Given the description of an element on the screen output the (x, y) to click on. 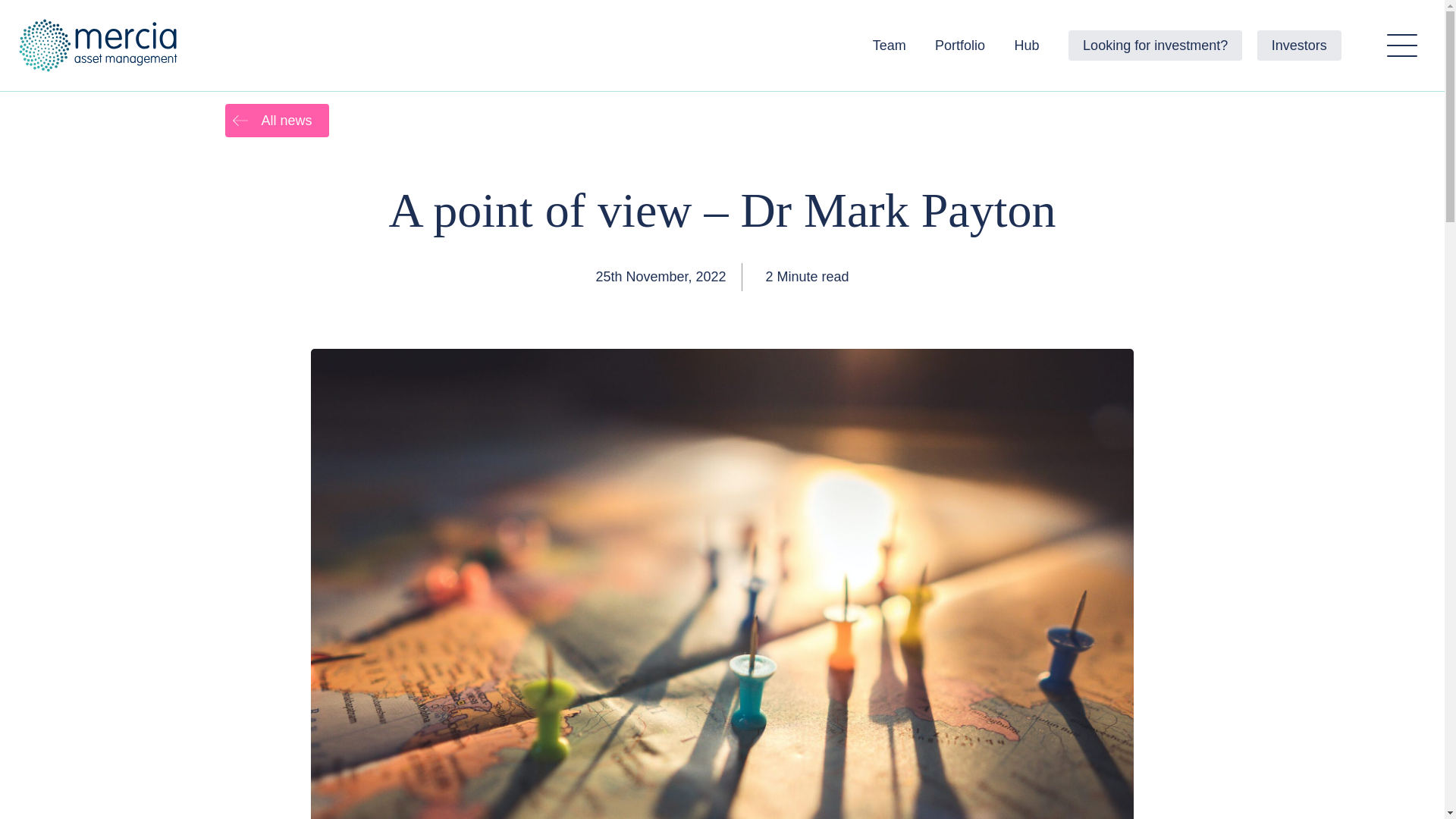
Portfolio (959, 44)
Portfolio (959, 44)
Investors (1298, 45)
Mercia (100, 45)
Team (888, 44)
Looking for investment? (1154, 45)
Team (888, 44)
Looking for investment? (1154, 45)
Investors (1298, 45)
